Given the description of an element on the screen output the (x, y) to click on. 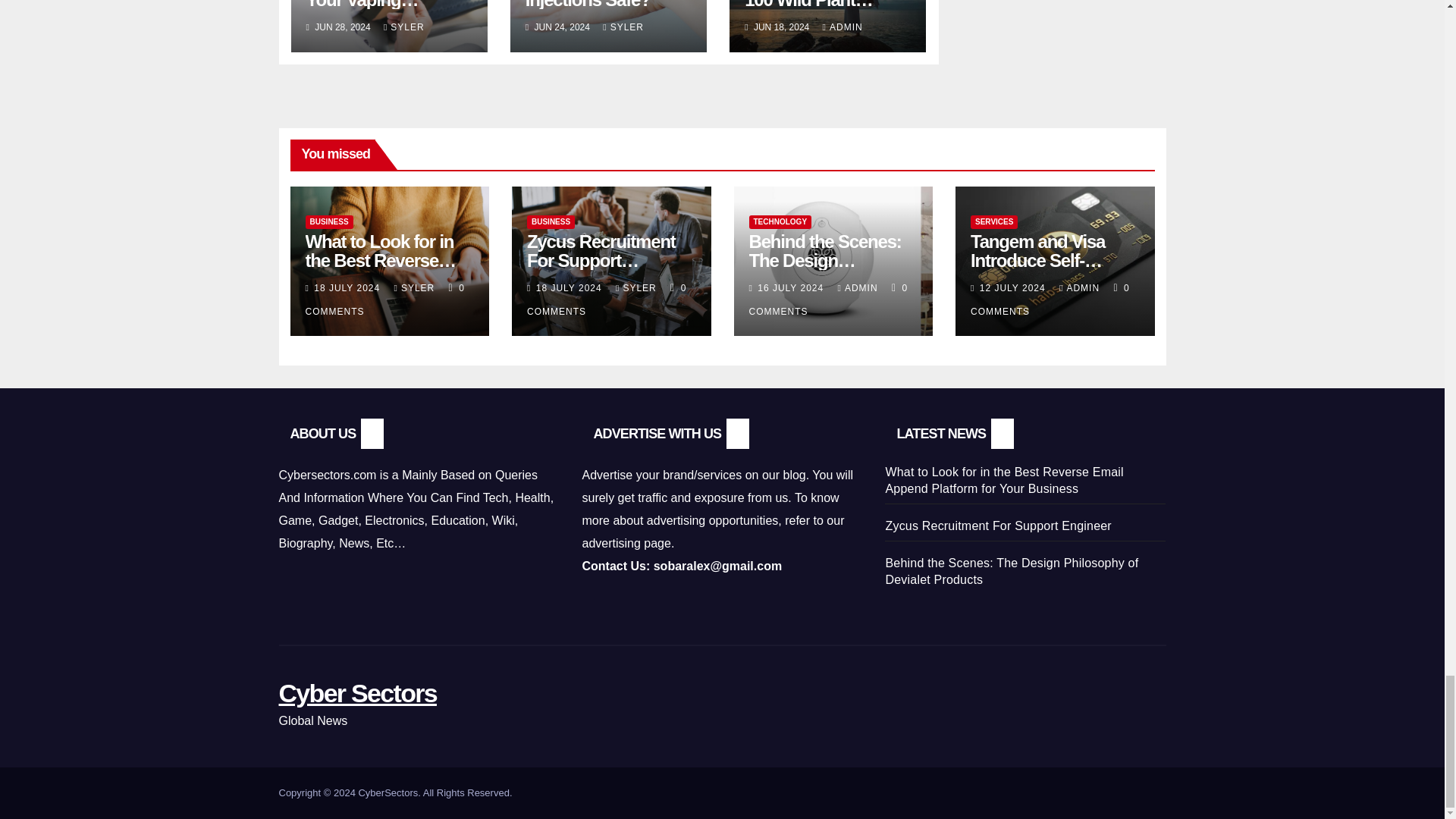
Permalink to: Are Whitening Injections Safe? (587, 4)
Permalink to: Zycus Recruitment For Support Engineer (601, 259)
